Given the description of an element on the screen output the (x, y) to click on. 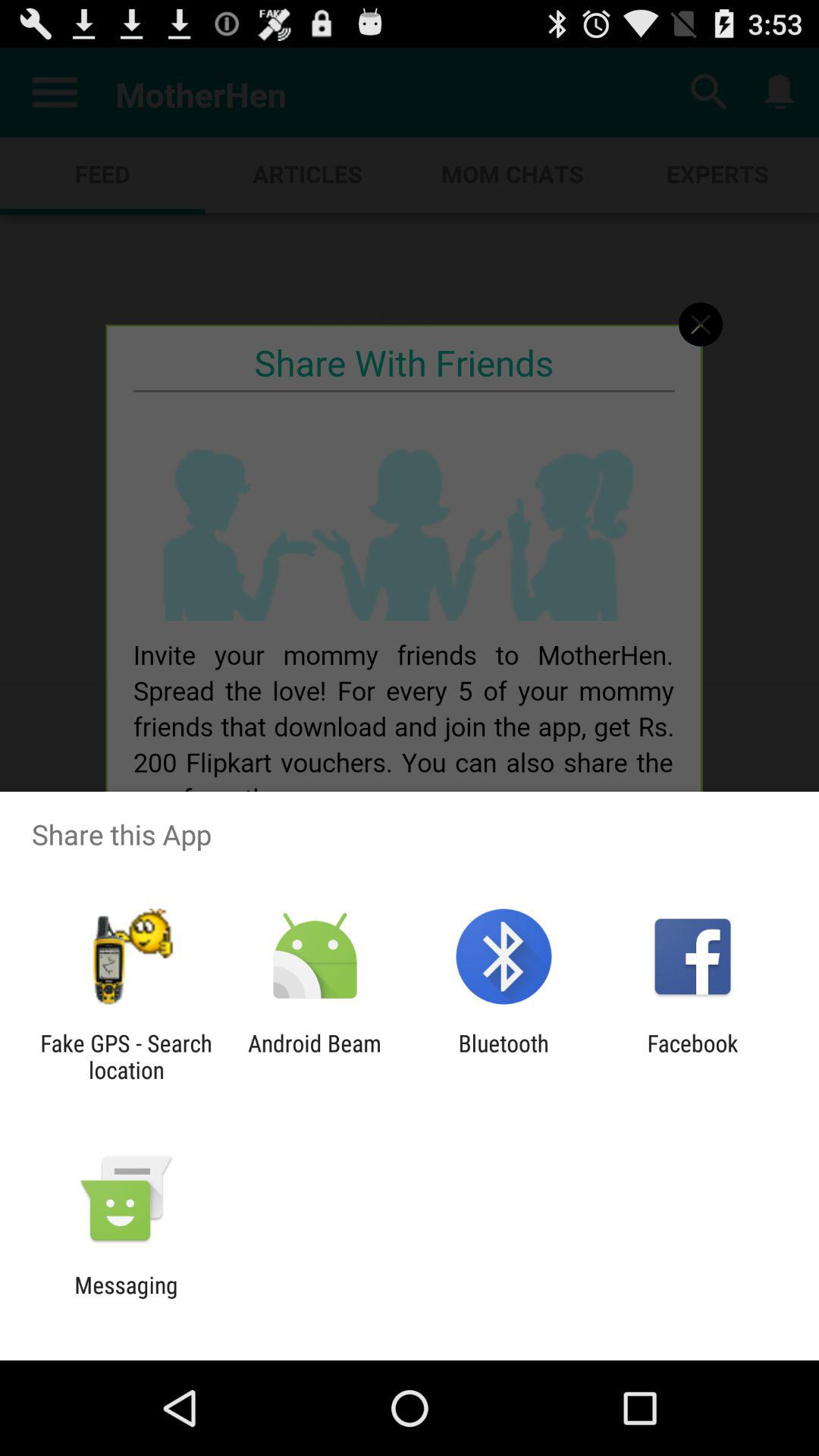
turn off app to the right of the fake gps search (314, 1056)
